Given the description of an element on the screen output the (x, y) to click on. 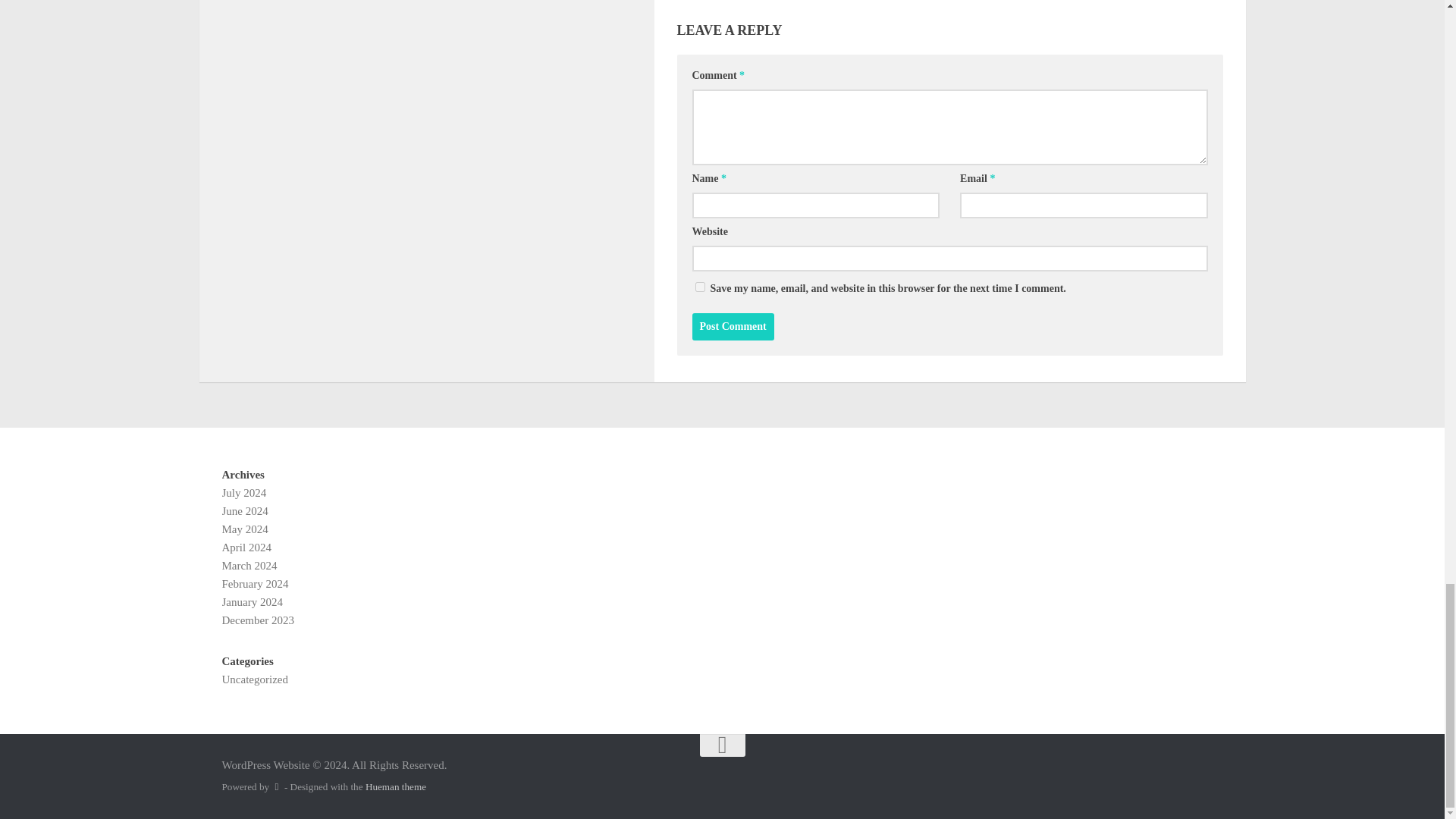
March 2024 (248, 565)
April 2024 (245, 547)
Post Comment (732, 326)
June 2024 (244, 510)
May 2024 (244, 529)
Uncategorized (253, 679)
Post Comment (732, 326)
July 2024 (243, 492)
Hueman theme (395, 786)
February 2024 (254, 583)
December 2023 (257, 620)
January 2024 (251, 602)
Powered by WordPress (275, 786)
yes (699, 286)
Hueman theme (395, 786)
